Given the description of an element on the screen output the (x, y) to click on. 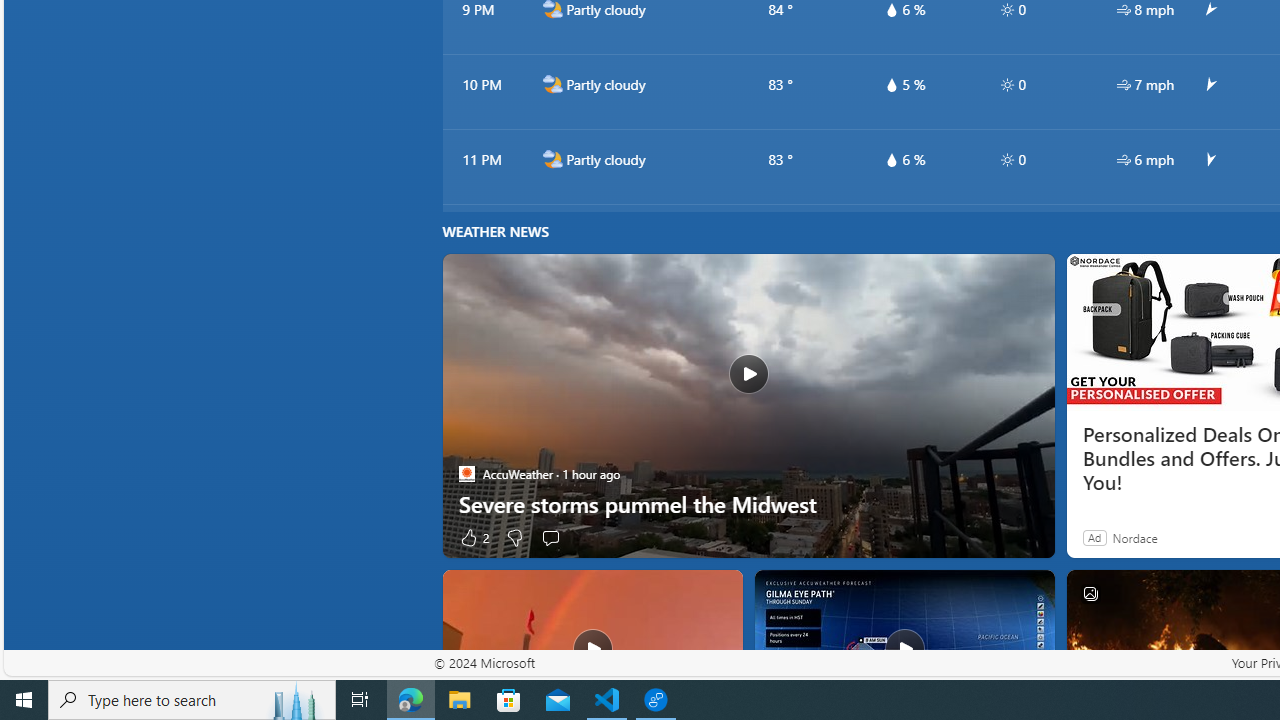
Severe storms pummel the Midwest (747, 406)
